Given the description of an element on the screen output the (x, y) to click on. 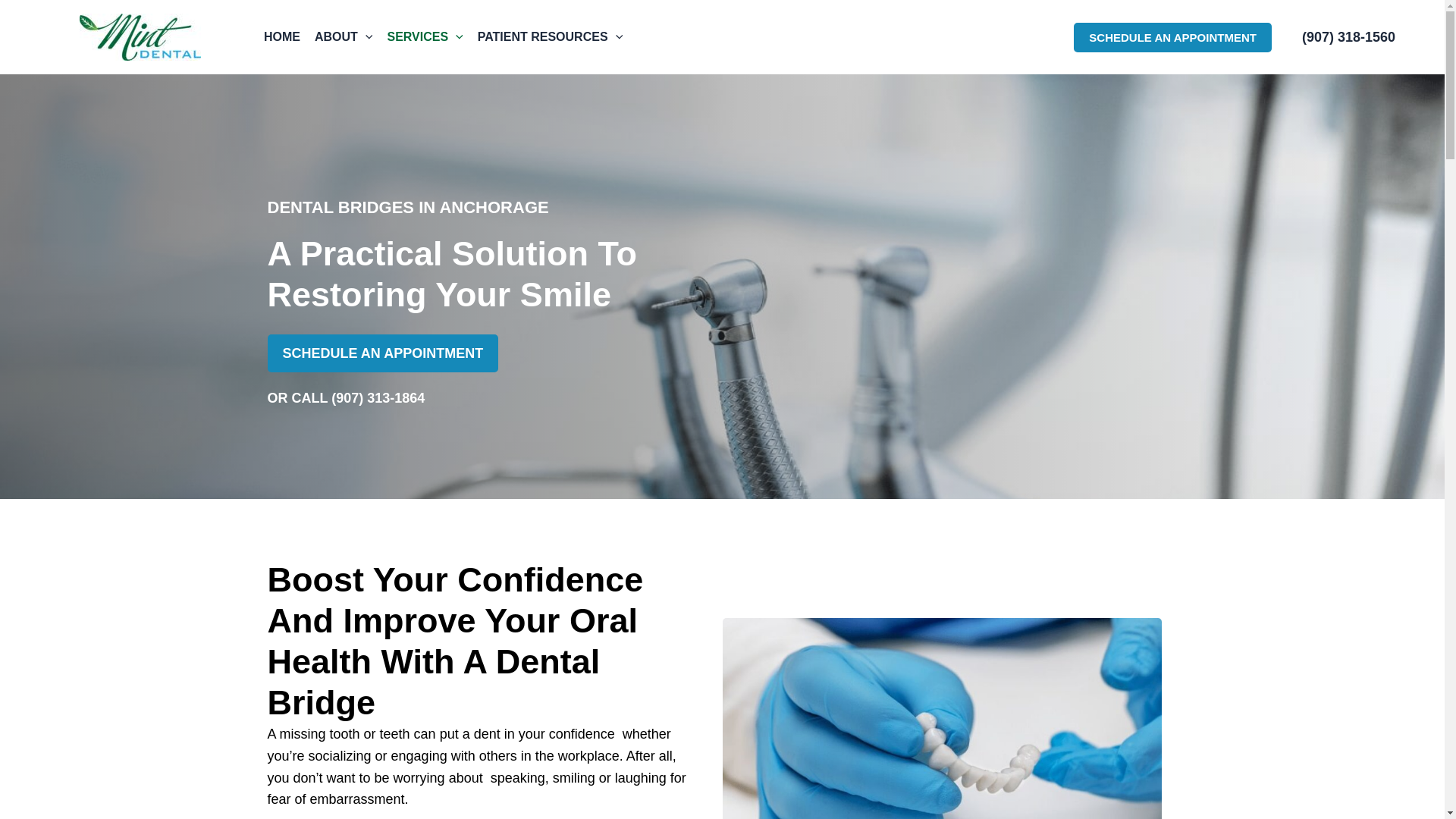
ABOUT (348, 37)
SCHEDULE AN APPOINTMENT (1172, 37)
PATIENT RESOURCES (555, 37)
SERVICES (429, 37)
